Given the description of an element on the screen output the (x, y) to click on. 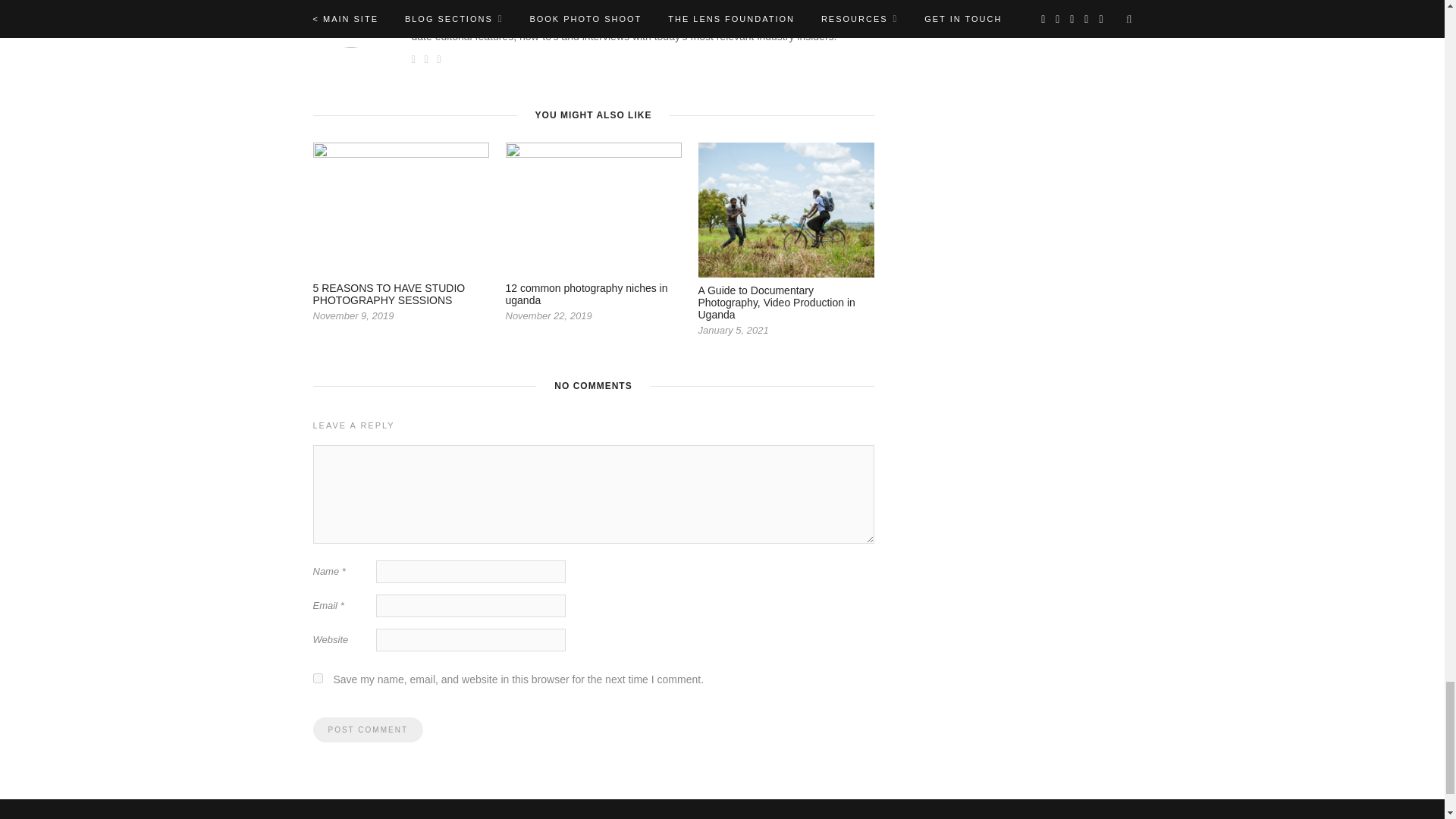
yes (317, 678)
Post Comment (367, 729)
